Given the description of an element on the screen output the (x, y) to click on. 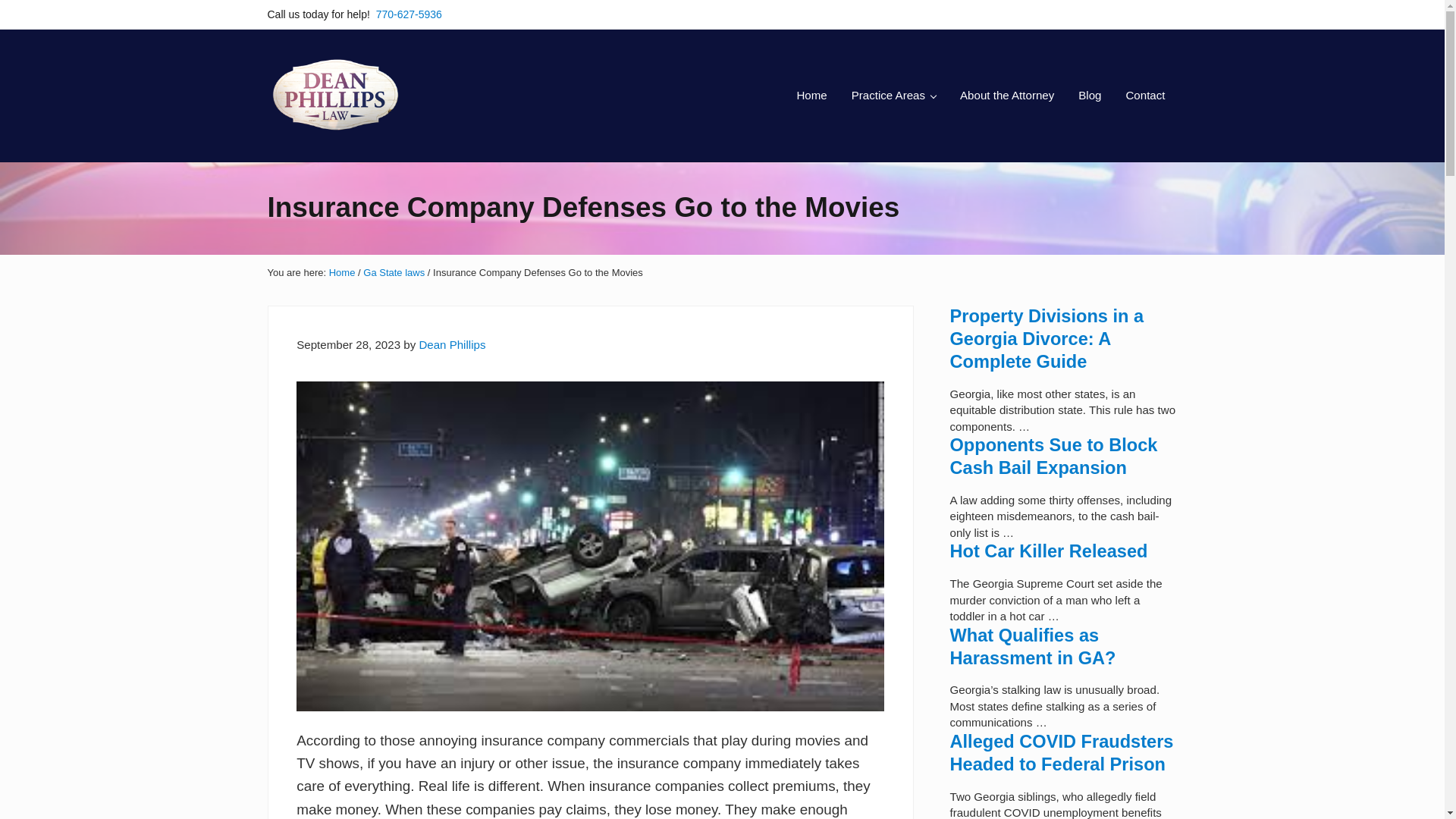
770-627-5936 (408, 14)
Practice Areas (893, 95)
Home (811, 95)
